Given the description of an element on the screen output the (x, y) to click on. 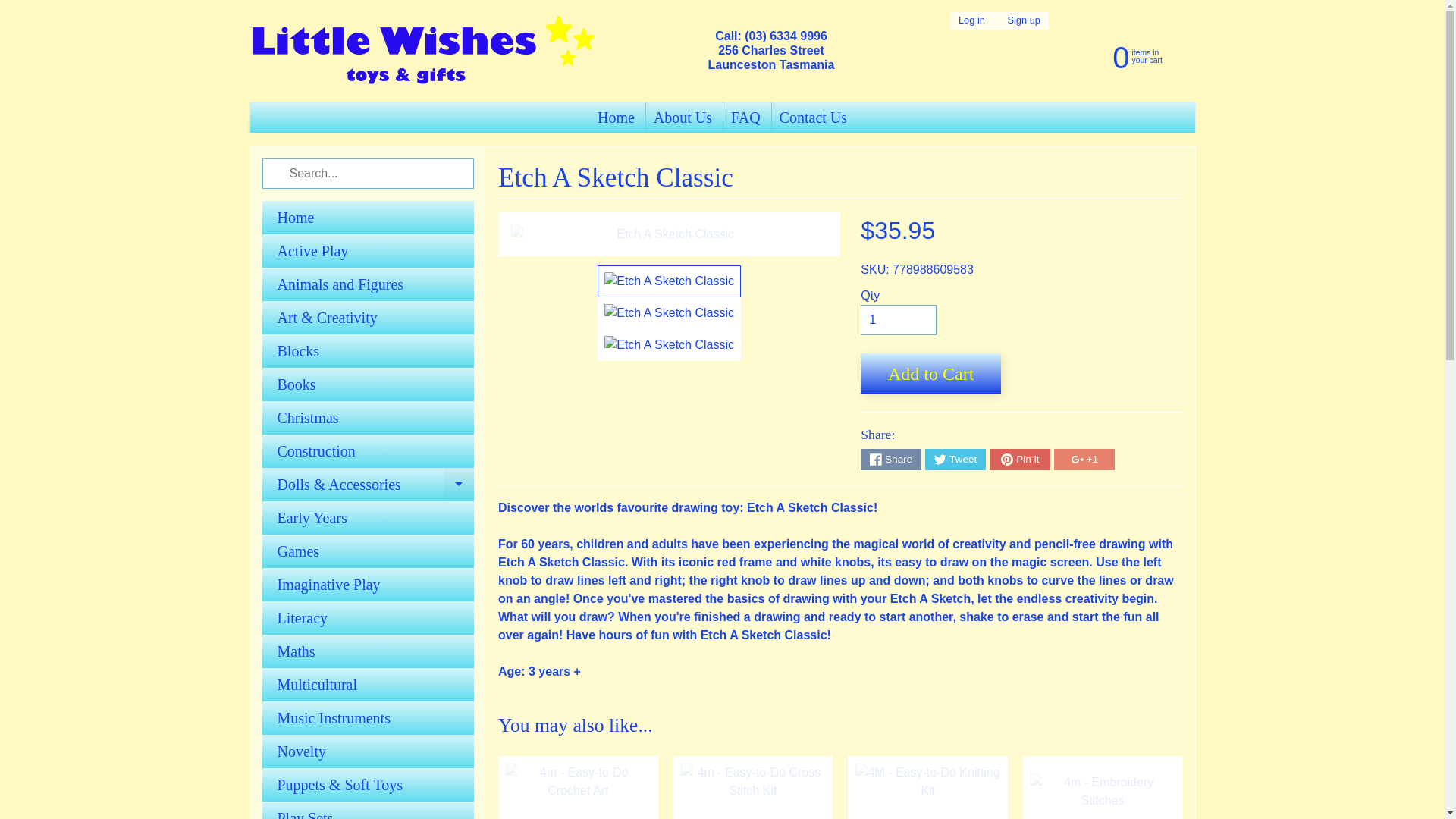
Home (368, 217)
Expand child menu (459, 484)
Books (368, 384)
Contact Us (812, 117)
Christmas (368, 417)
Sign up (1024, 20)
Pin on Pinterest (1019, 459)
Imaginative Play (368, 584)
Games (368, 551)
Early Years (368, 517)
